Given the description of an element on the screen output the (x, y) to click on. 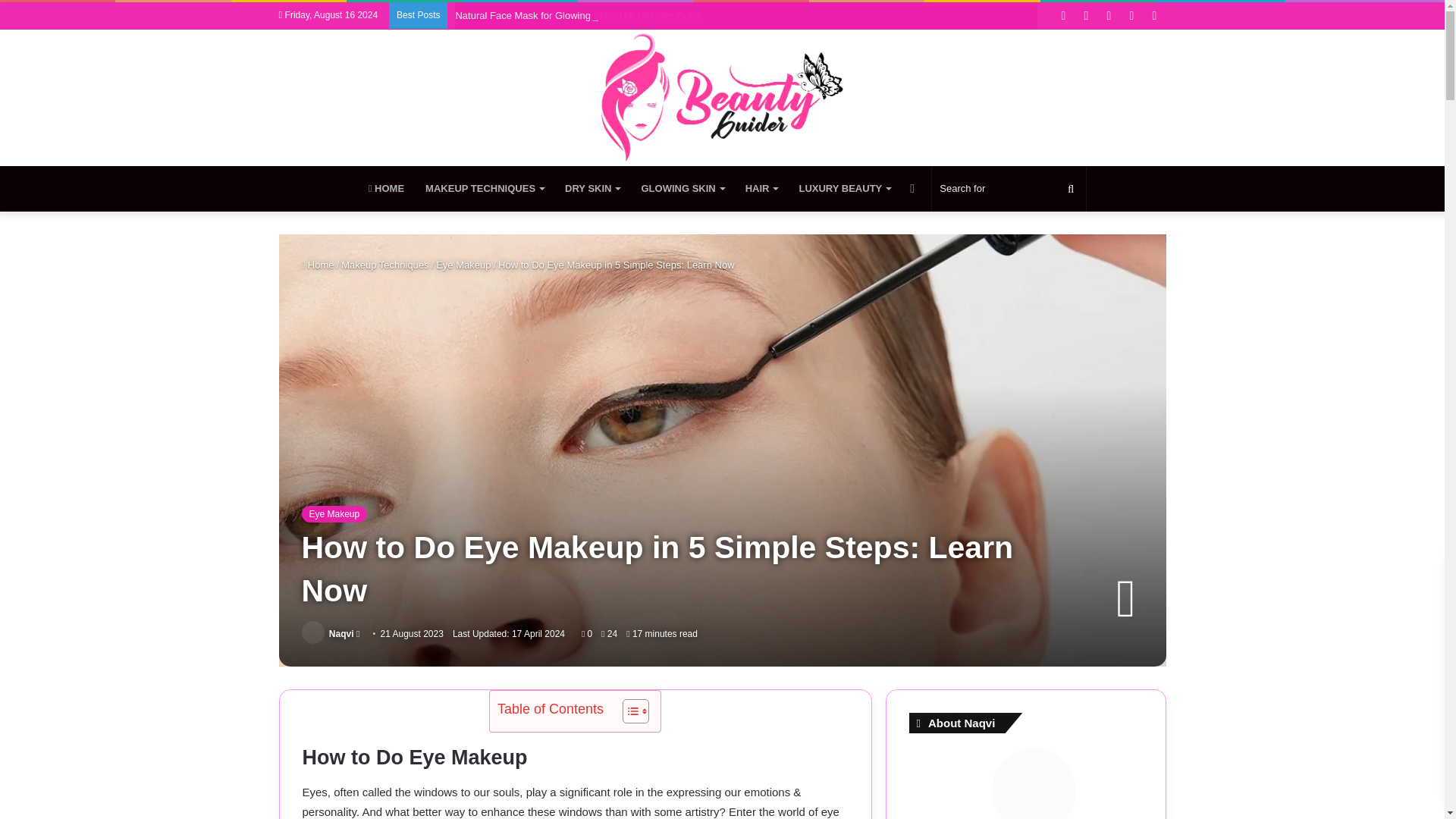
Search for (1008, 188)
Natural Face Mask for Glowing Skin: The Ultimate Guide (577, 15)
HOME (386, 188)
GLOWING SKIN (681, 188)
BeautyGuider (722, 97)
DRY SKIN (592, 188)
Naqvi (341, 633)
MAKEUP TECHNIQUES (484, 188)
